Given the description of an element on the screen output the (x, y) to click on. 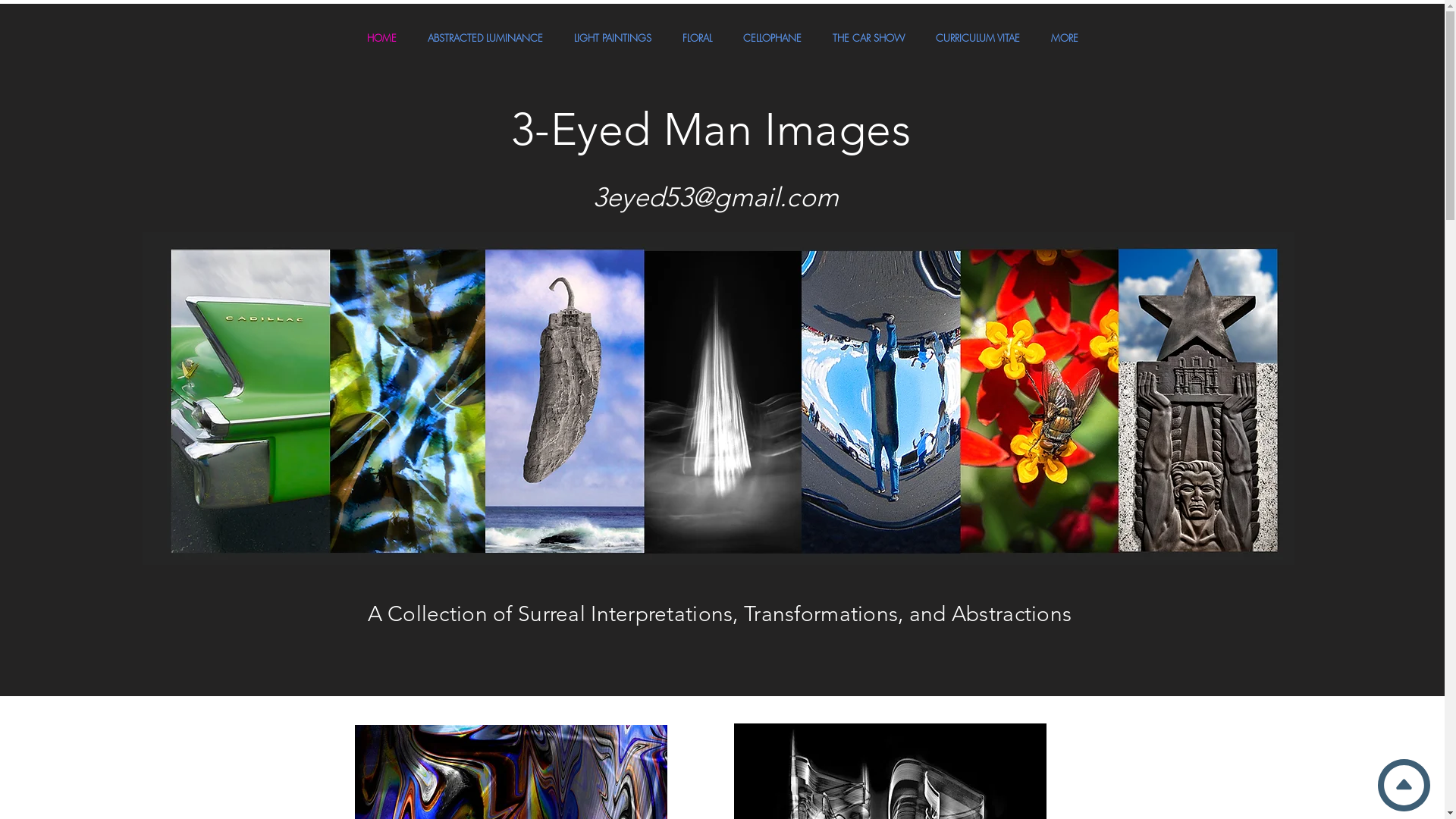
CELLOPHANE Element type: text (772, 37)
ABSTRACTED LUMINANCE Element type: text (485, 37)
THE CAR SHOW Element type: text (868, 37)
CURRICULUM VITAE Element type: text (977, 37)
3eyed53@gmail.com Element type: text (716, 196)
LIGHT PAINTINGS Element type: text (612, 37)
HOME Element type: text (380, 37)
FLORAL Element type: text (697, 37)
